Given the description of an element on the screen output the (x, y) to click on. 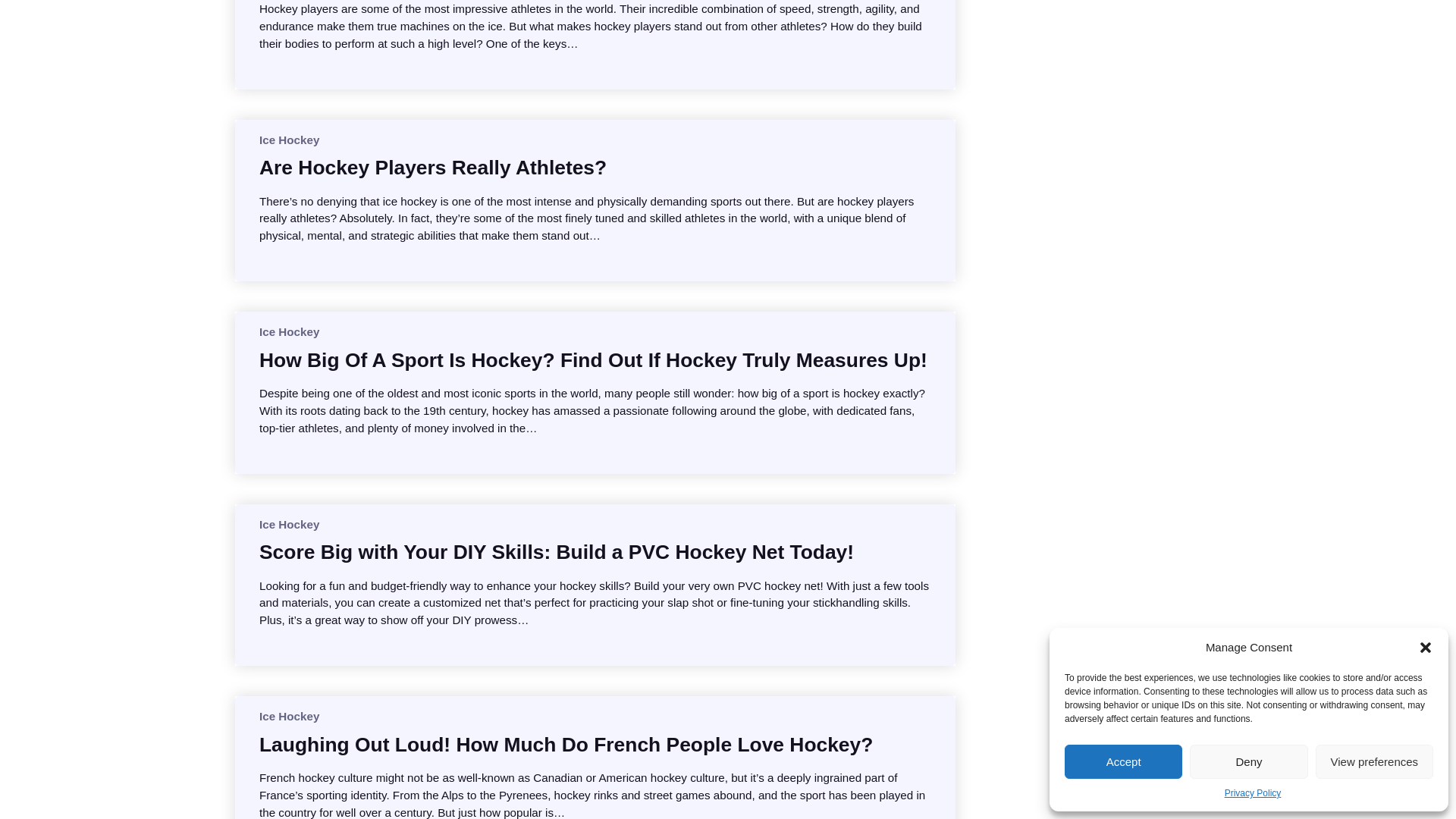
Ice Hockey (288, 523)
Ice Hockey (288, 139)
Ice Hockey (288, 716)
Are Hockey Players Really Athletes? (433, 167)
Laughing Out Loud! How Much Do French People Love Hockey? (565, 744)
Ice Hockey (288, 331)
